Given the description of an element on the screen output the (x, y) to click on. 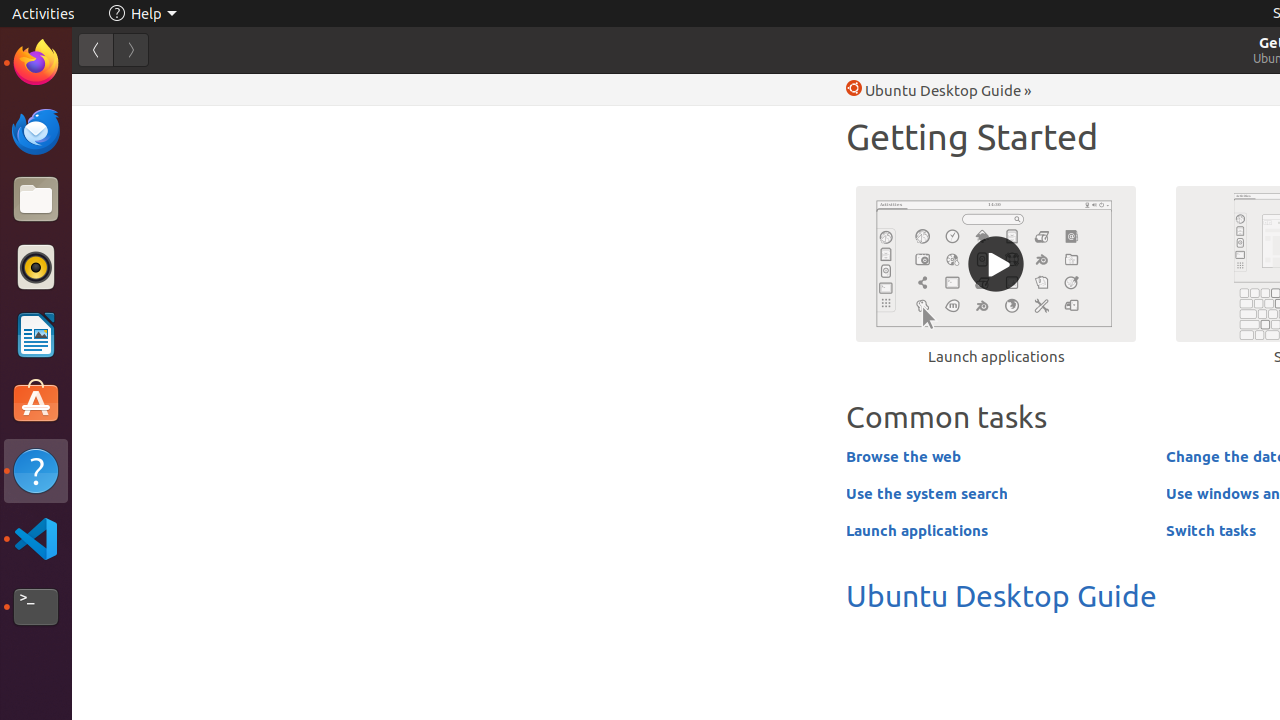
Browse the web Element type: link (903, 456)
Help Ubuntu Desktop Guide Element type: link (933, 89)
Trash Element type: label (133, 191)
